Given the description of an element on the screen output the (x, y) to click on. 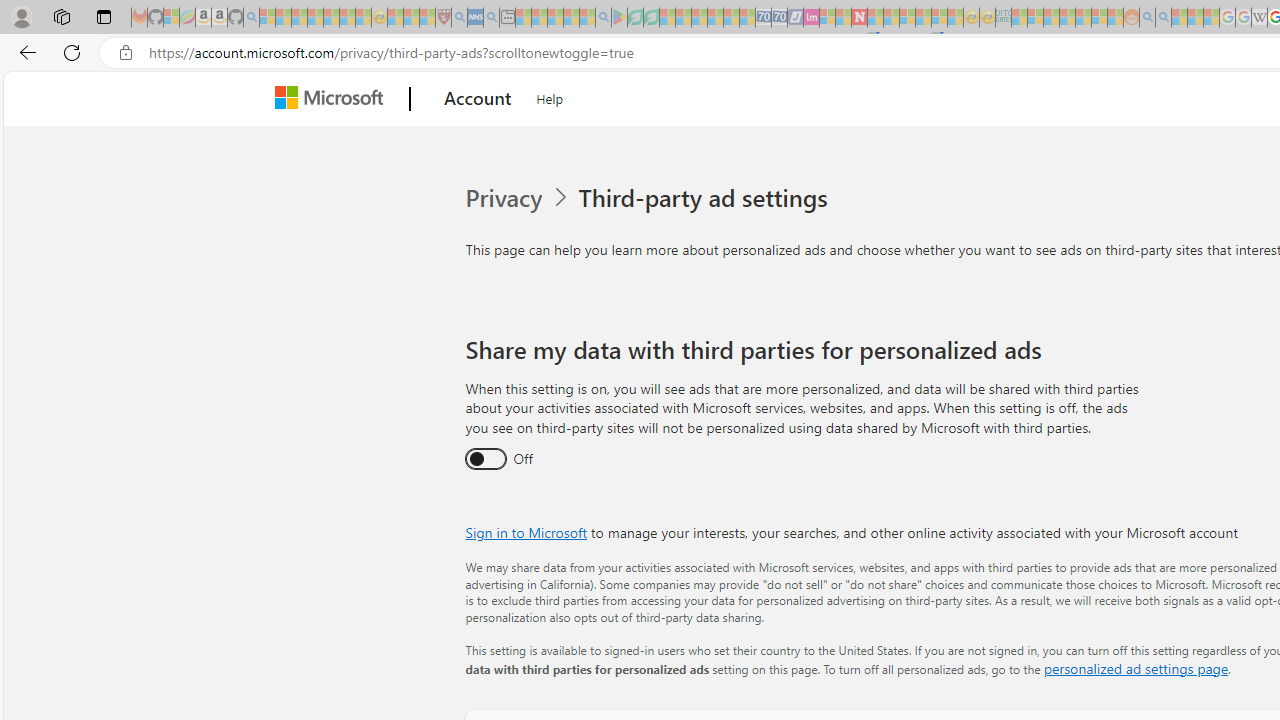
Sign in to Microsoft (525, 532)
